Given the description of an element on the screen output the (x, y) to click on. 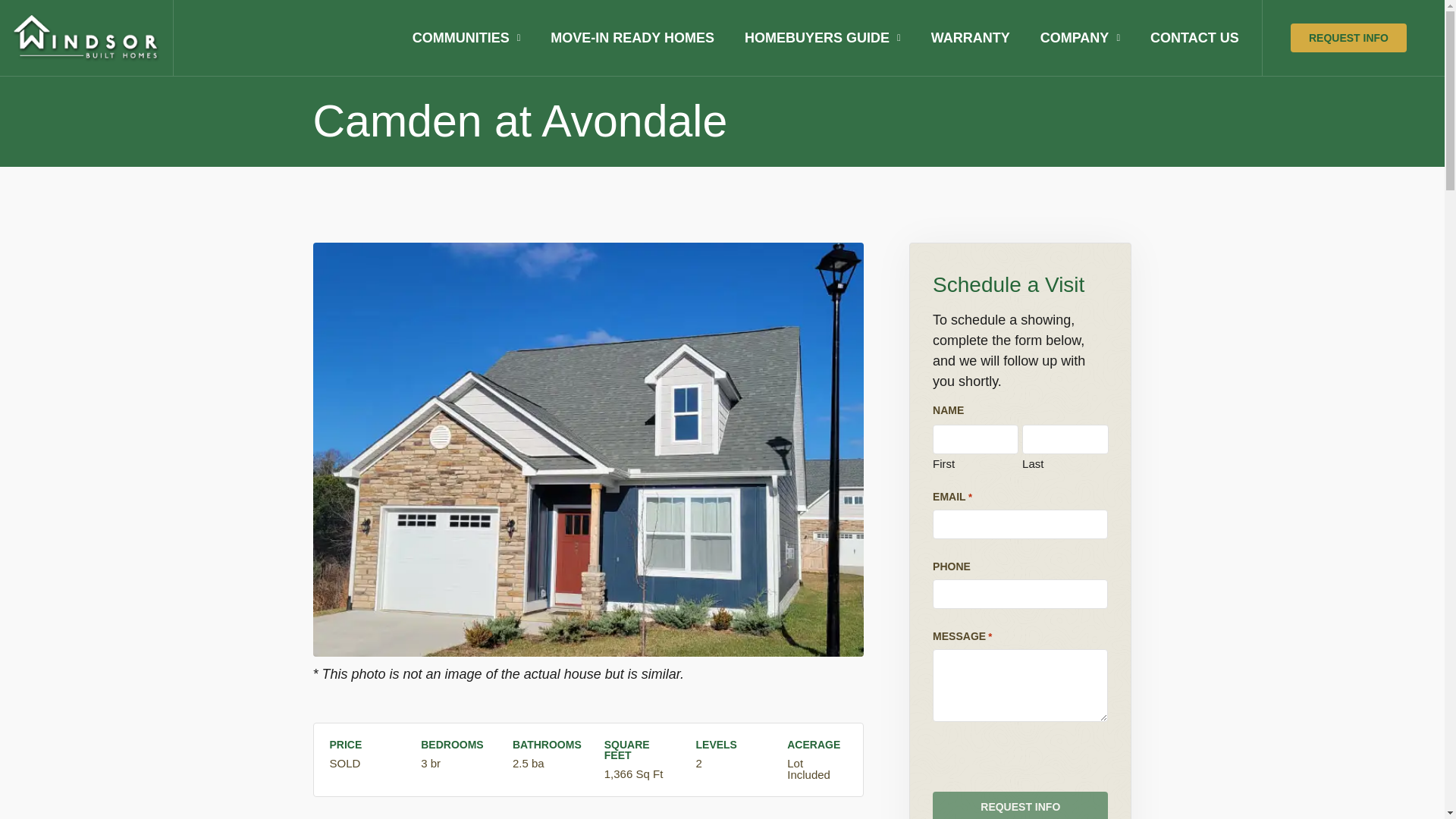
REQUEST INFO (1020, 805)
COMPANY (1080, 37)
WARRANTY (970, 37)
CONTACT US (1194, 37)
COMMUNITIES (466, 37)
MOVE-IN READY HOMES (632, 37)
HOMEBUYERS GUIDE (822, 37)
